Given the description of an element on the screen output the (x, y) to click on. 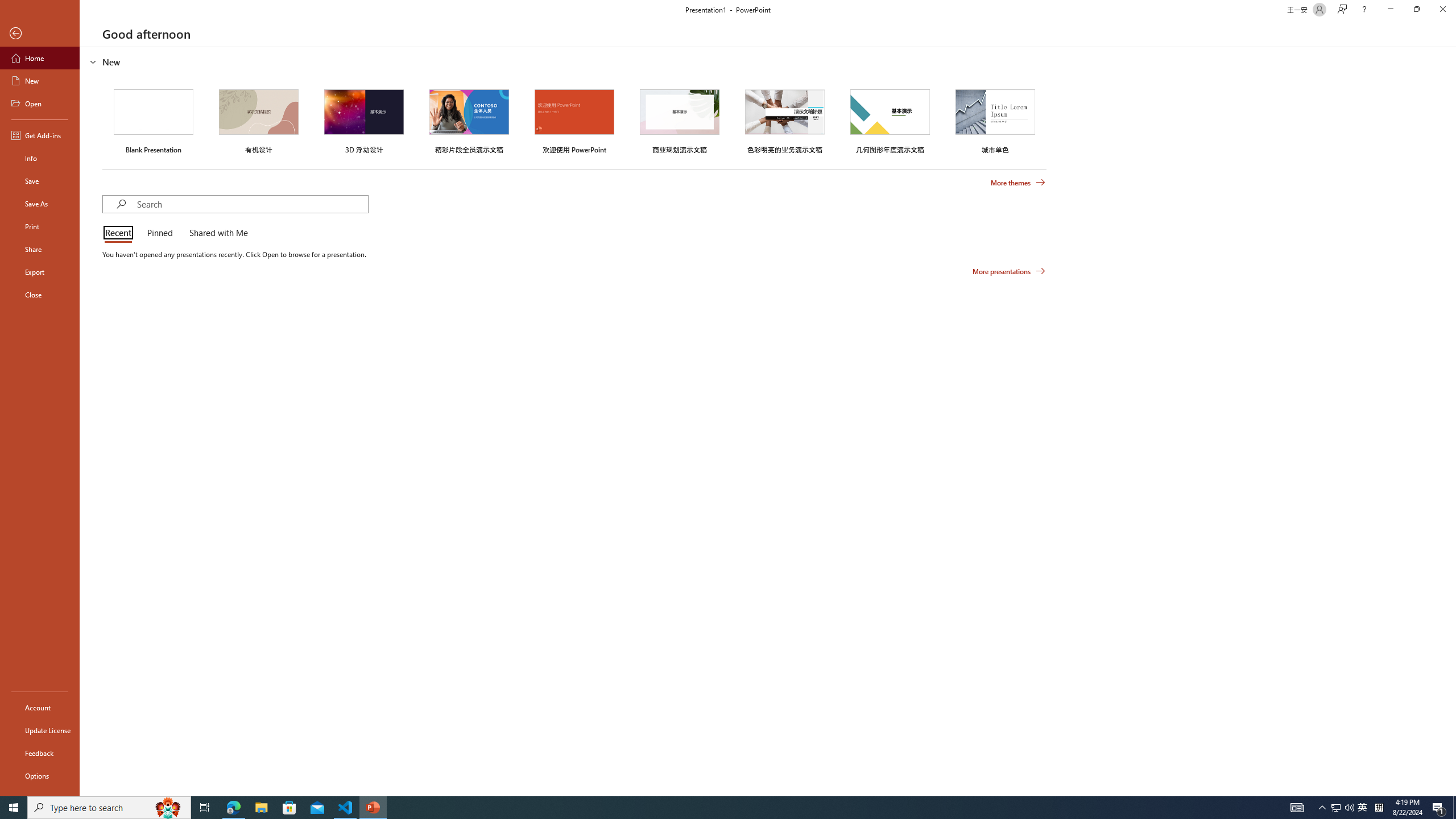
Pinned (159, 233)
New (40, 80)
Shared with Me (215, 233)
Feedback (40, 753)
Recent (119, 233)
Get Add-ins (40, 134)
Back (40, 33)
